Given the description of an element on the screen output the (x, y) to click on. 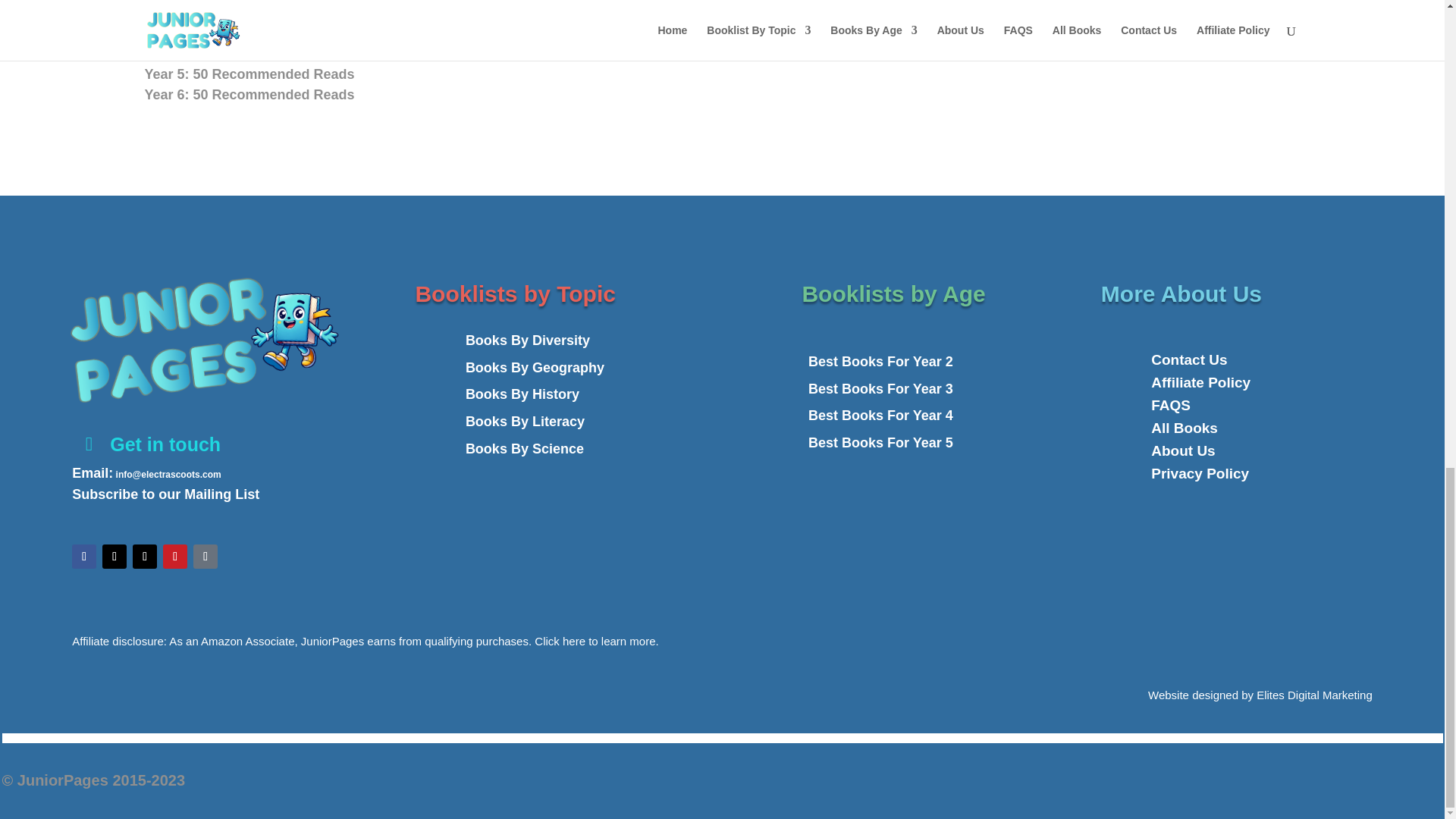
Follow on Facebook (83, 556)
Follow on X (113, 556)
Year 2: 50 Recommended Reads (478, 13)
Follow on Pinterest (175, 556)
Follow on TikTok (204, 556)
Follow on Instagram (144, 556)
